Given the description of an element on the screen output the (x, y) to click on. 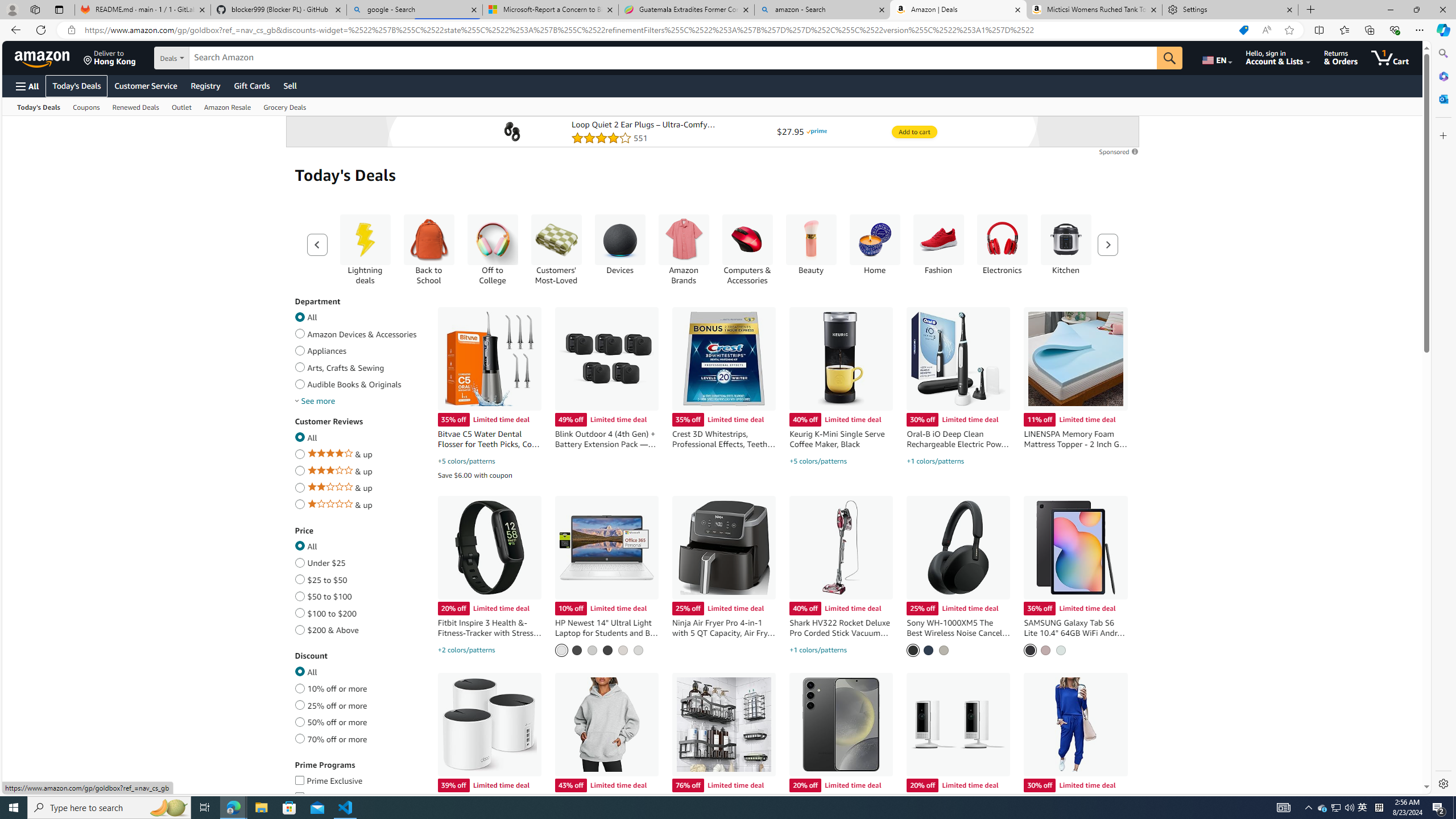
Computers & Accessories (747, 239)
Previous (317, 244)
Arts, Crafts & Sewing (299, 365)
Amazon (43, 57)
50% off or more (299, 719)
Kitchen Kitchen (1065, 244)
Amazon Brands (683, 239)
Devices (619, 239)
